Given the description of an element on the screen output the (x, y) to click on. 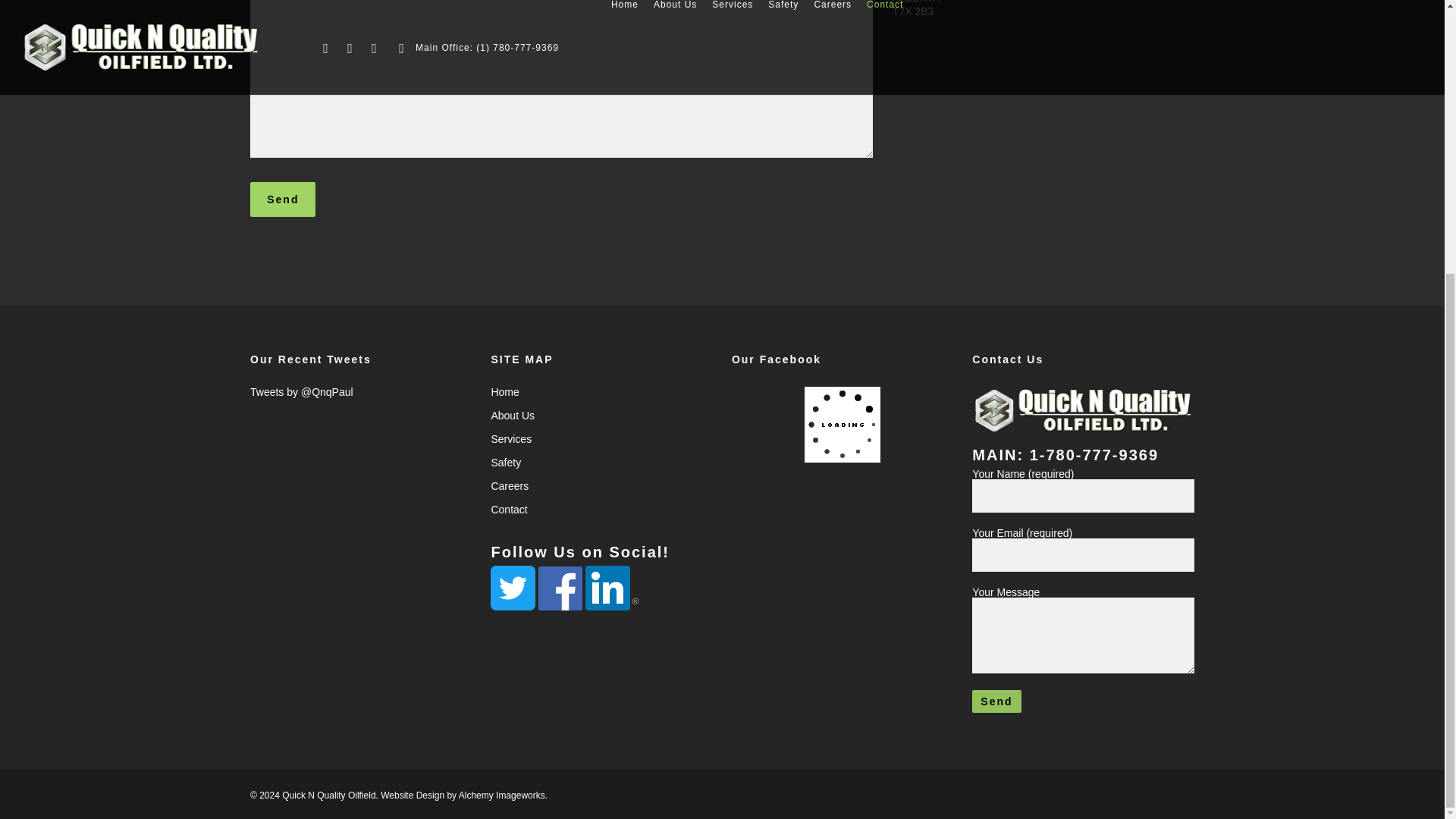
Send (282, 199)
Contact (601, 508)
Services (601, 438)
Safety (601, 461)
About Us (601, 414)
Alchemy Imageworks (501, 795)
Home (601, 394)
Send (996, 701)
Send (282, 199)
1-780-777-9369 (1093, 454)
Send (996, 701)
Careers (601, 486)
